Given the description of an element on the screen output the (x, y) to click on. 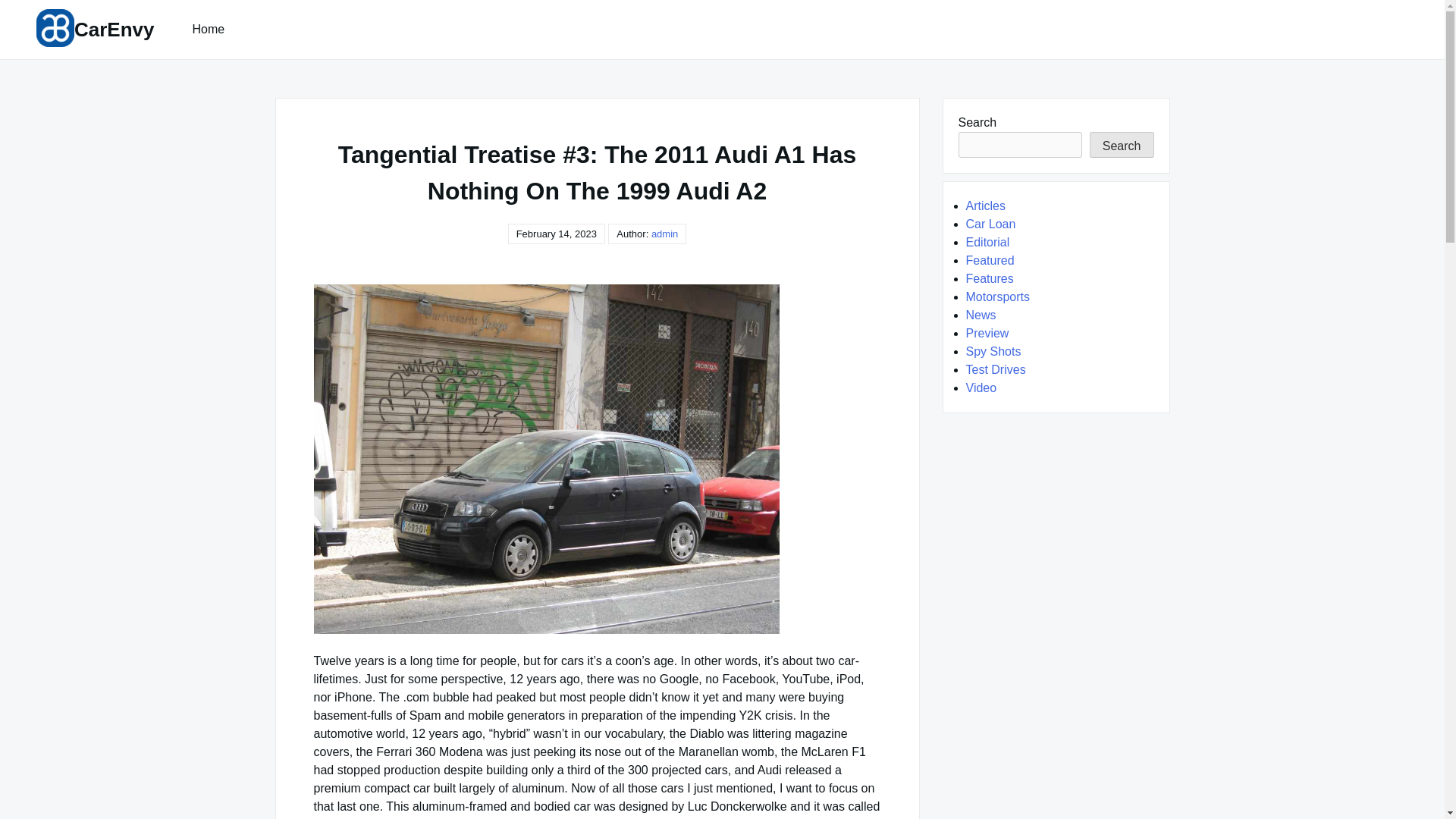
Home (208, 29)
Features (989, 278)
Preview (987, 332)
Search (1121, 144)
admin (664, 233)
Editorial (988, 241)
Articles (986, 205)
Car Loan (991, 223)
Posts by admin (664, 233)
Featured (990, 259)
CarEnvy (114, 29)
News (980, 314)
Motorsports (997, 296)
Spy Shots (994, 350)
